Given the description of an element on the screen output the (x, y) to click on. 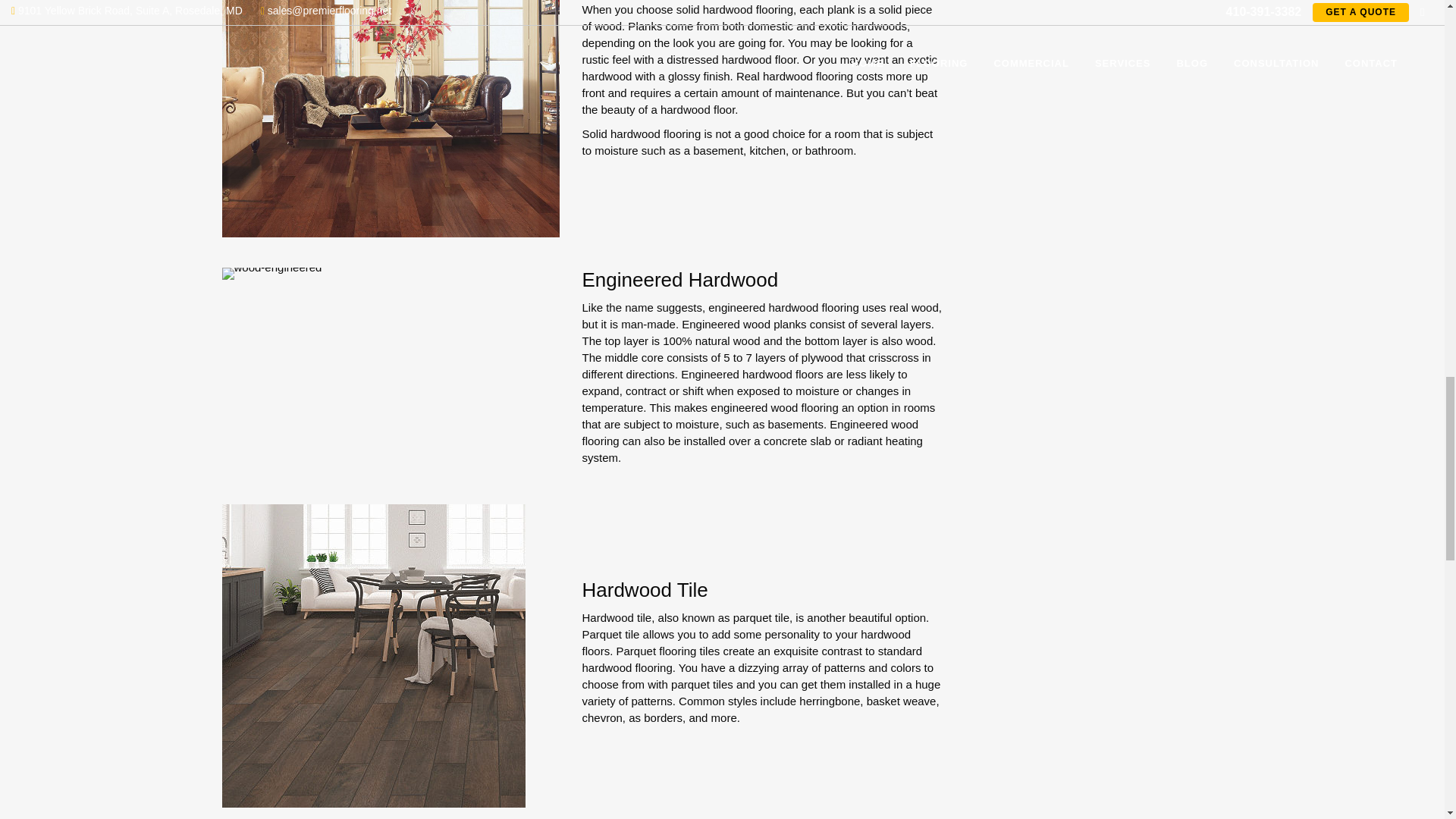
wood-tile (372, 654)
wood-engineered (271, 272)
wood-floor2 (390, 118)
